Given the description of an element on the screen output the (x, y) to click on. 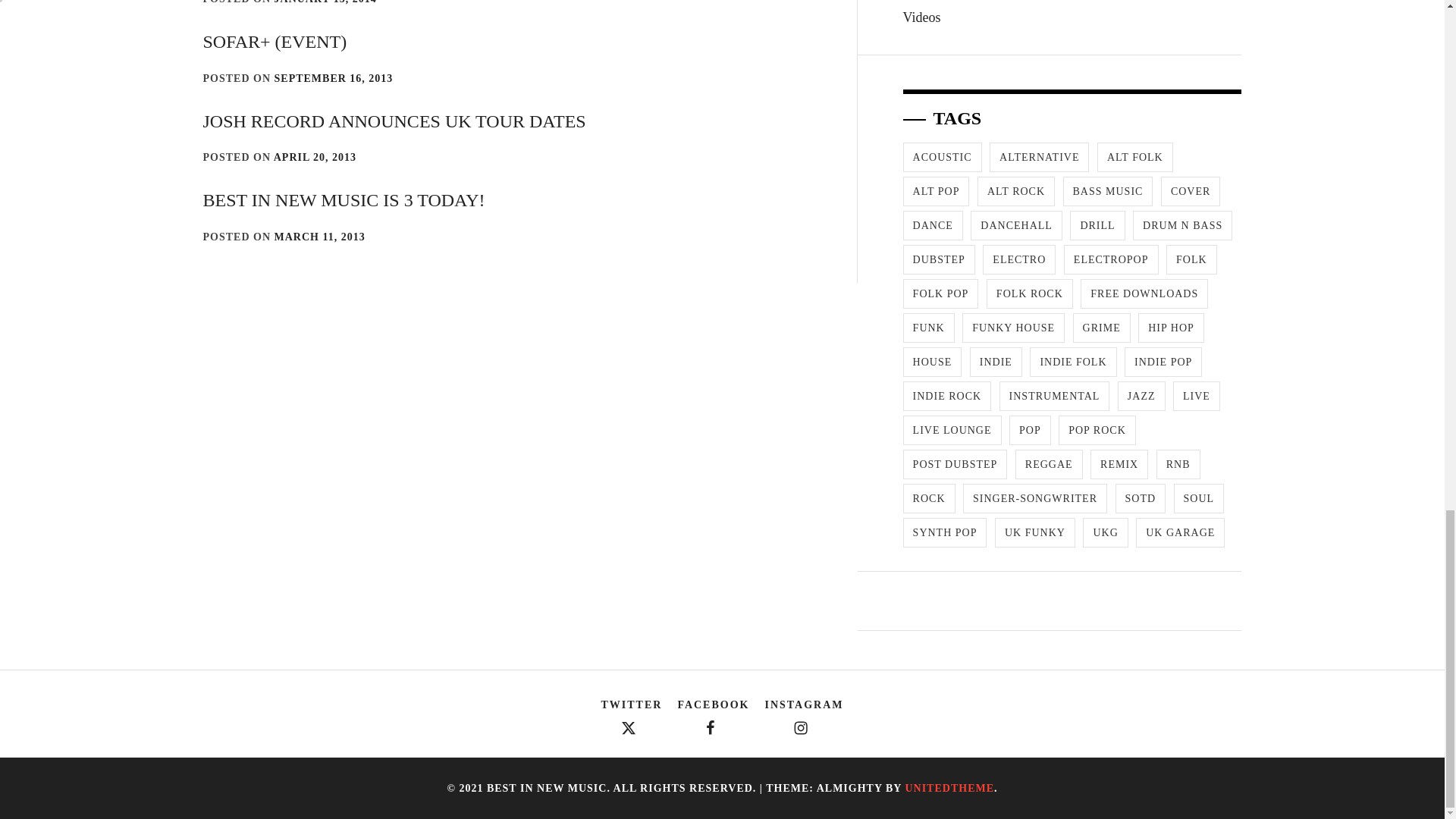
JANUARY 13, 2014 (326, 2)
SEPTEMBER 16, 2013 (334, 78)
